Given the description of an element on the screen output the (x, y) to click on. 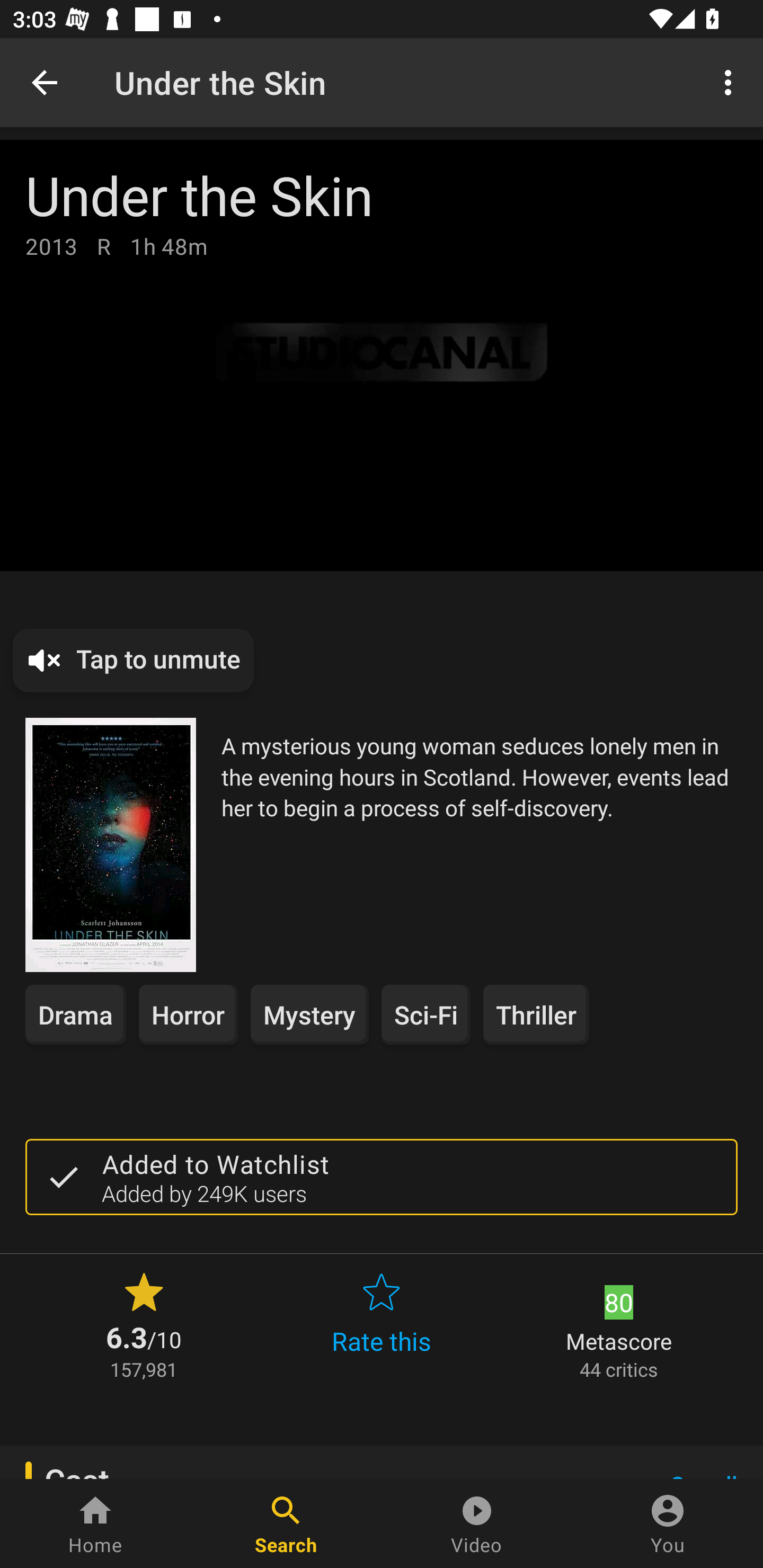
More options (731, 81)
toggle controls (381, 354)
Tap to unmute (133, 660)
Drama (75, 1014)
Horror (188, 1014)
Mystery (309, 1014)
Sci-Fi (425, 1014)
Thriller (535, 1014)
Added to Watchlist Added by 249K users (381, 1176)
6.3 /10 157,981 (143, 1323)
Rate this (381, 1323)
80 Metascore 44 critics (618, 1323)
Home (95, 1523)
Video (476, 1523)
You (667, 1523)
